Given the description of an element on the screen output the (x, y) to click on. 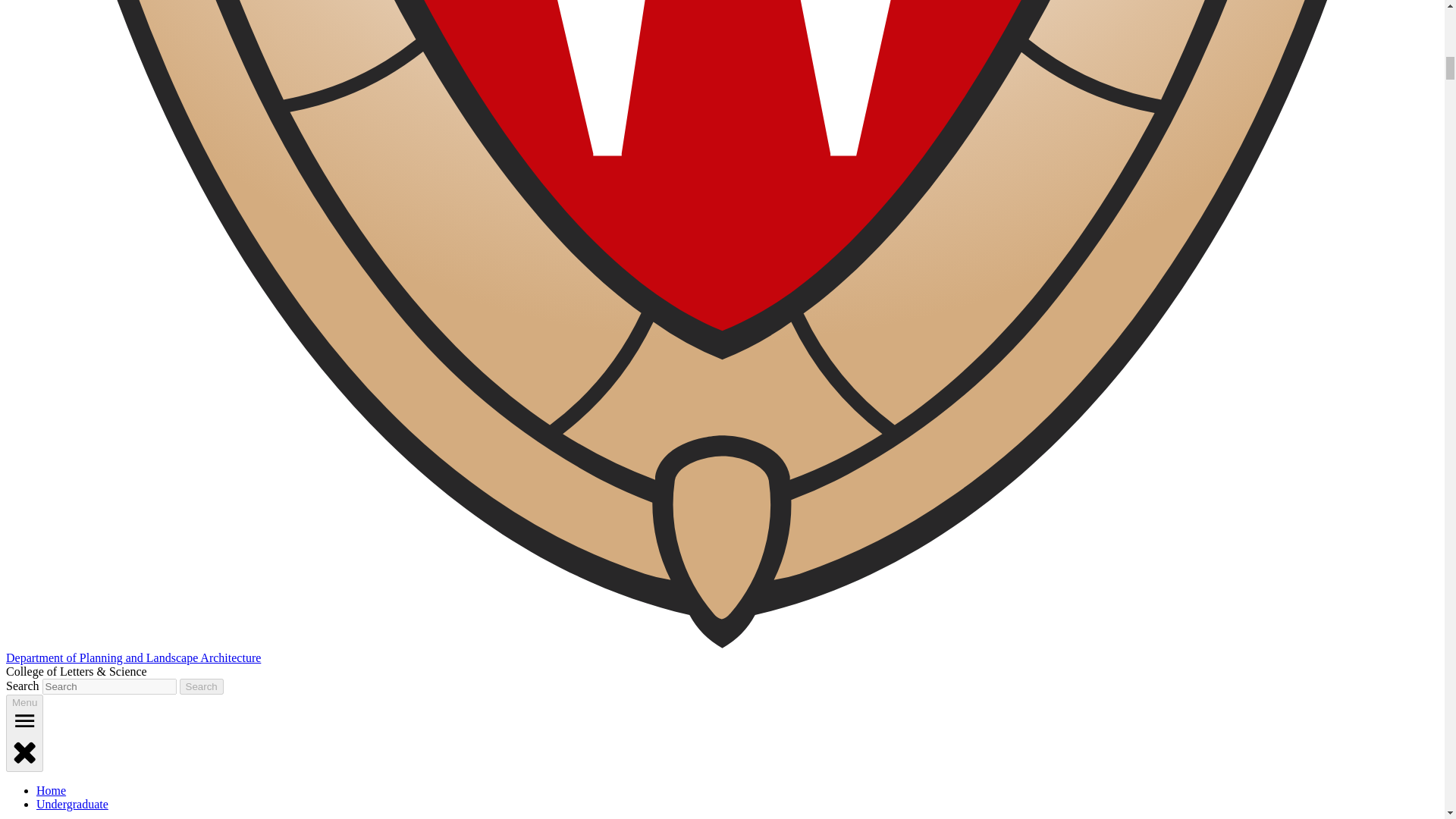
Home (50, 789)
close (24, 751)
Menu open menu close (24, 733)
Search (201, 686)
open menu (24, 720)
Department of Planning and Landscape Architecture (132, 657)
Search (201, 686)
Search (201, 686)
